Given the description of an element on the screen output the (x, y) to click on. 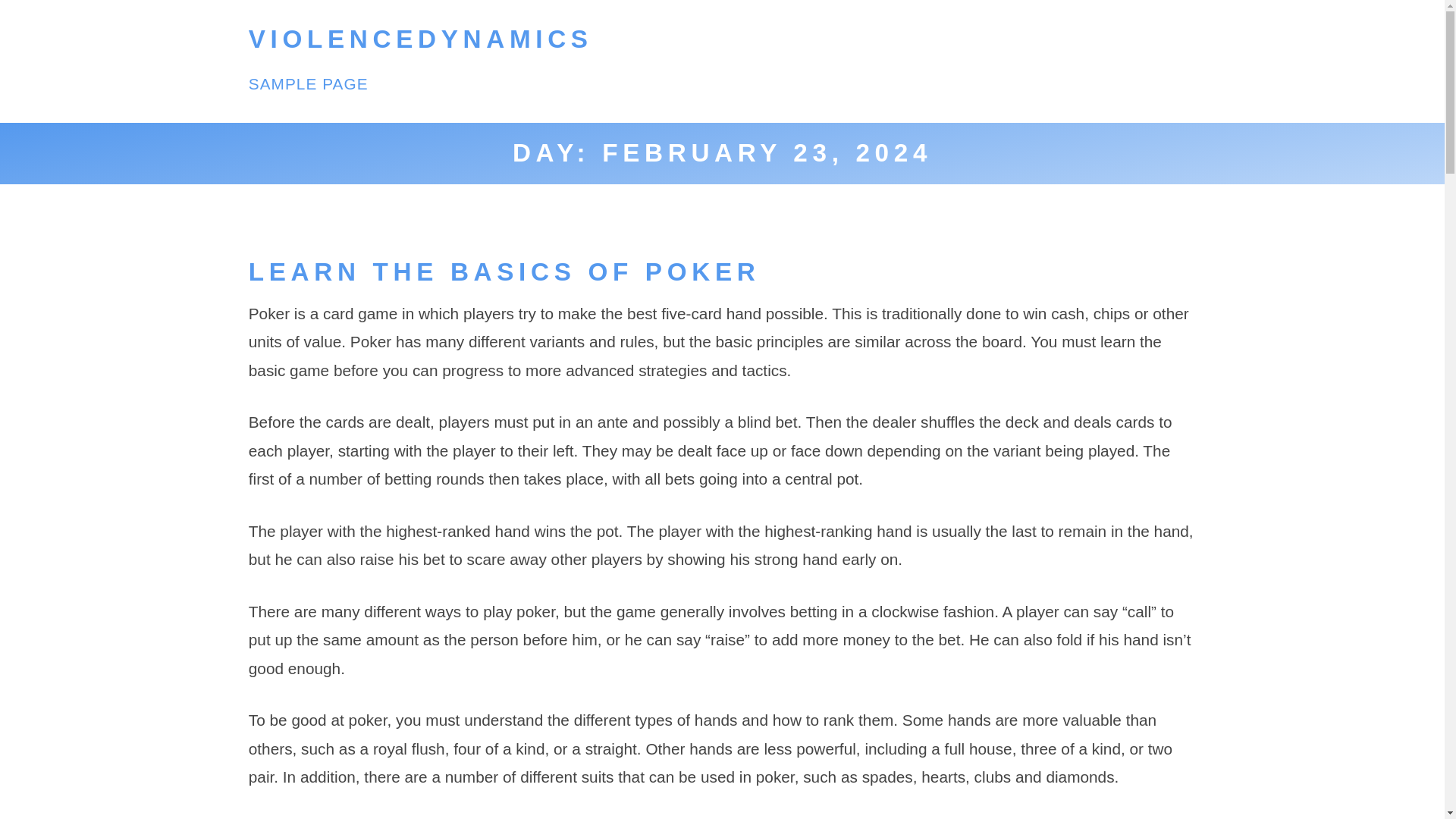
LEARN THE BASICS OF POKER (504, 271)
SAMPLE PAGE (308, 83)
VIOLENCEDYNAMICS (420, 39)
